Given the description of an element on the screen output the (x, y) to click on. 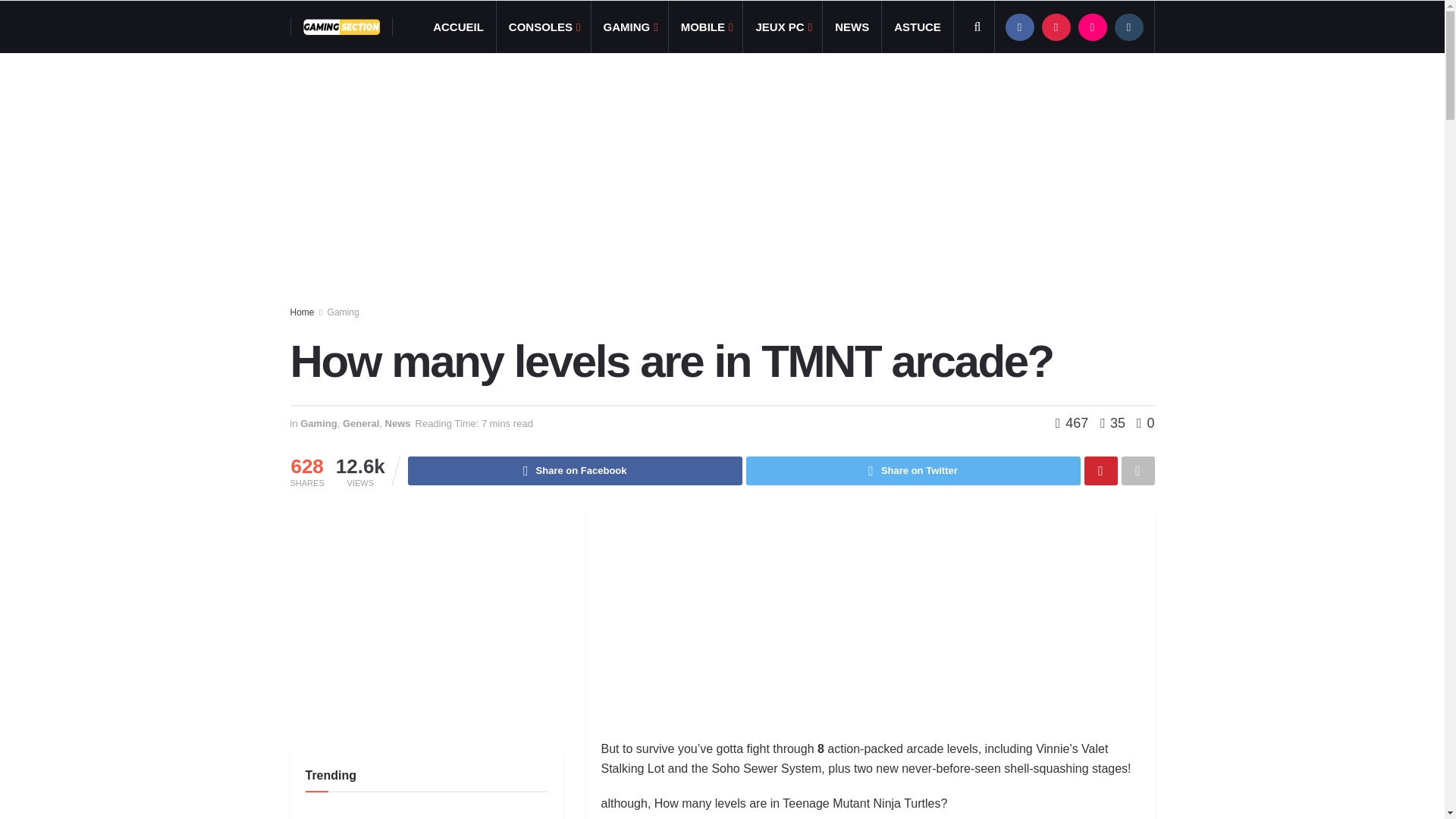
CONSOLES (543, 26)
GAMING (629, 26)
NEWS (851, 26)
MOBILE (705, 26)
ACCUEIL (458, 26)
ASTUCE (917, 26)
Advertisement (868, 633)
JEUX PC (782, 26)
